Given the description of an element on the screen output the (x, y) to click on. 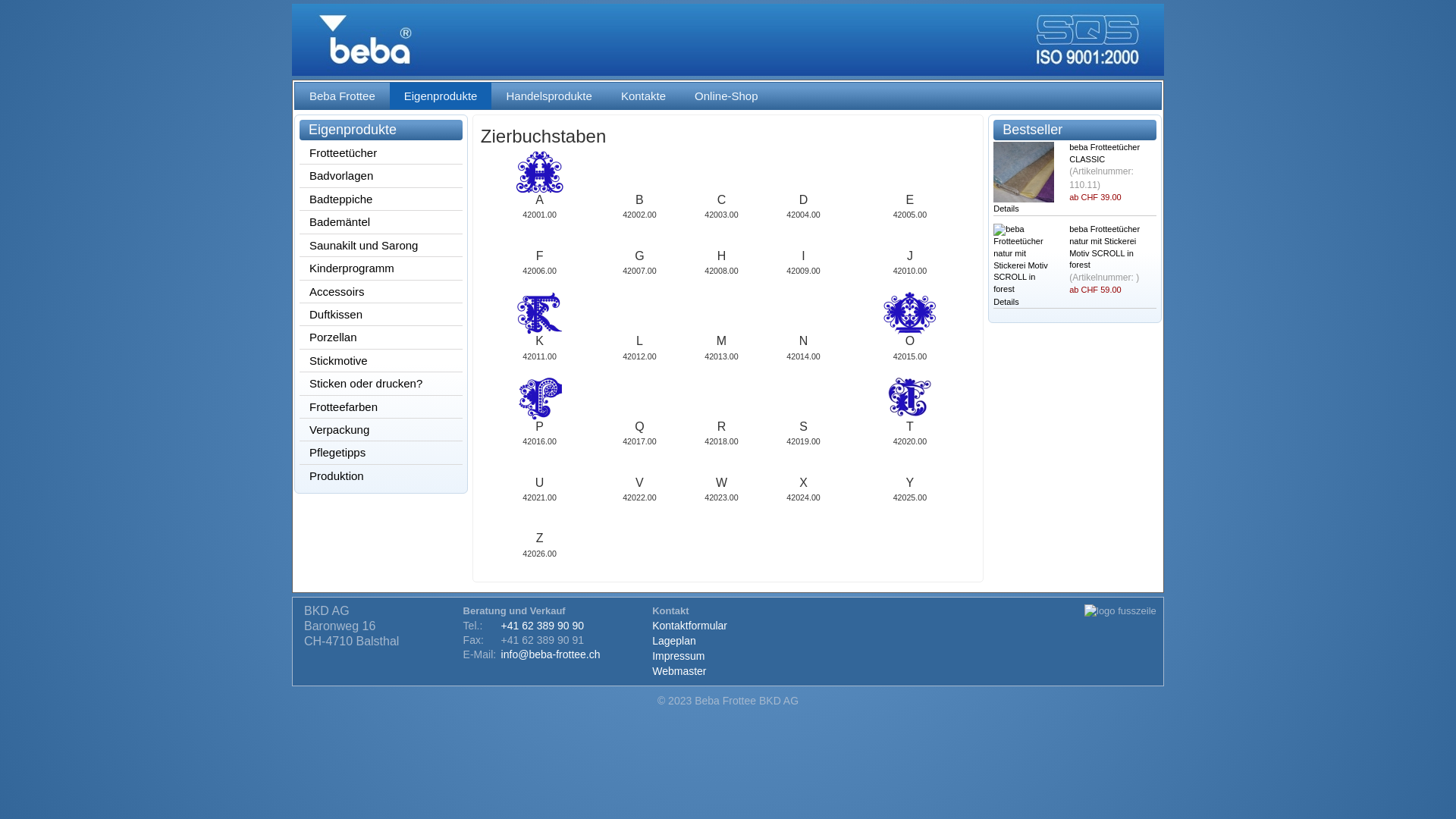
Details Element type: text (1006, 301)
Saunakilt und Sarong Element type: text (381, 245)
Duftkissen Element type: text (381, 314)
Porzellan Element type: text (381, 337)
Beba Frottee Element type: text (341, 95)
Webmaster Element type: text (679, 670)
Sticken oder drucken? Element type: text (381, 383)
Kontaktformular Element type: text (689, 625)
Beba Frottee BKD AG Element type: hover (727, 39)
Verpackung Element type: text (381, 429)
Frotteefarben Element type: text (381, 406)
Online-Shop Element type: text (725, 95)
Details Element type: text (1006, 208)
Pflegetipps Element type: text (381, 452)
Accessoirs Element type: text (381, 291)
Impressum Element type: text (678, 655)
Badteppiche Element type: text (381, 199)
Kontakte Element type: text (643, 95)
info@beba-frottee.ch Element type: text (550, 654)
Eigenprodukte Element type: text (440, 95)
Handelsprodukte Element type: text (548, 95)
t Element type: hover (909, 396)
+41 62 389 90 90 Element type: text (542, 625)
Produktion Element type: text (381, 475)
Badvorlagen Element type: text (381, 175)
Stickmotive Element type: text (381, 360)
Kinderprogramm Element type: text (381, 268)
Lageplan Element type: text (674, 640)
